Given the description of an element on the screen output the (x, y) to click on. 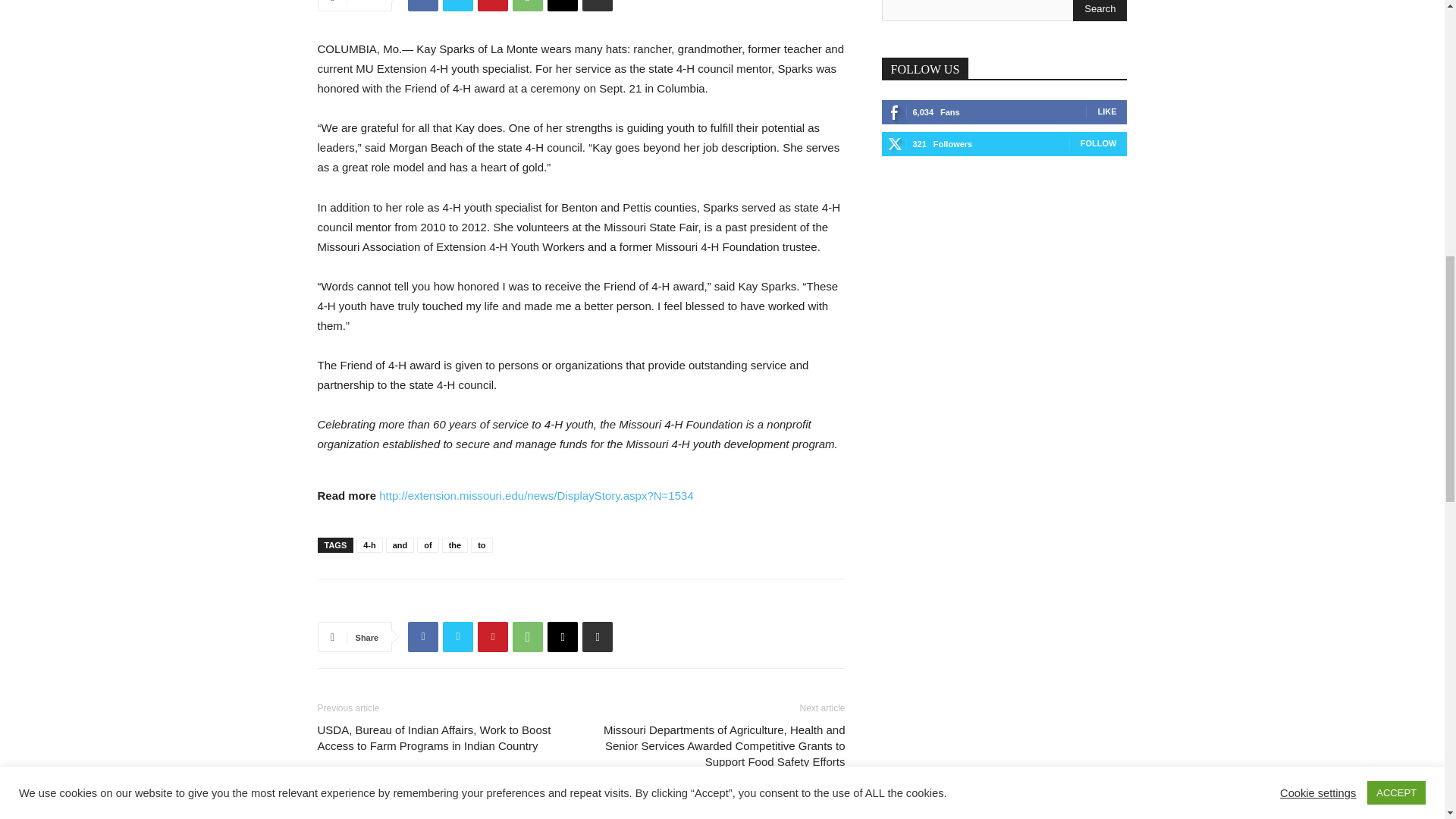
Facebook (422, 5)
Search (1099, 10)
Twitter (457, 5)
